Given the description of an element on the screen output the (x, y) to click on. 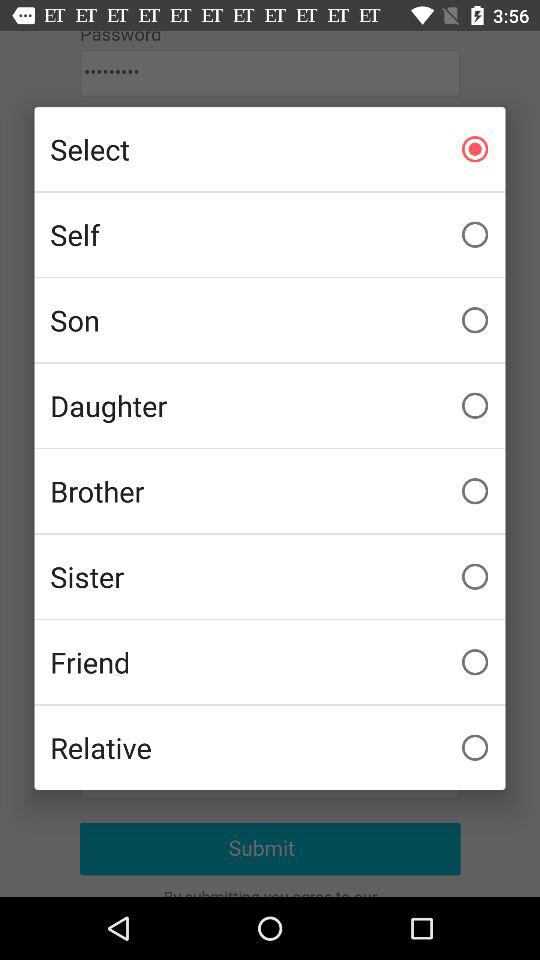
tap the friend checkbox (269, 662)
